Given the description of an element on the screen output the (x, y) to click on. 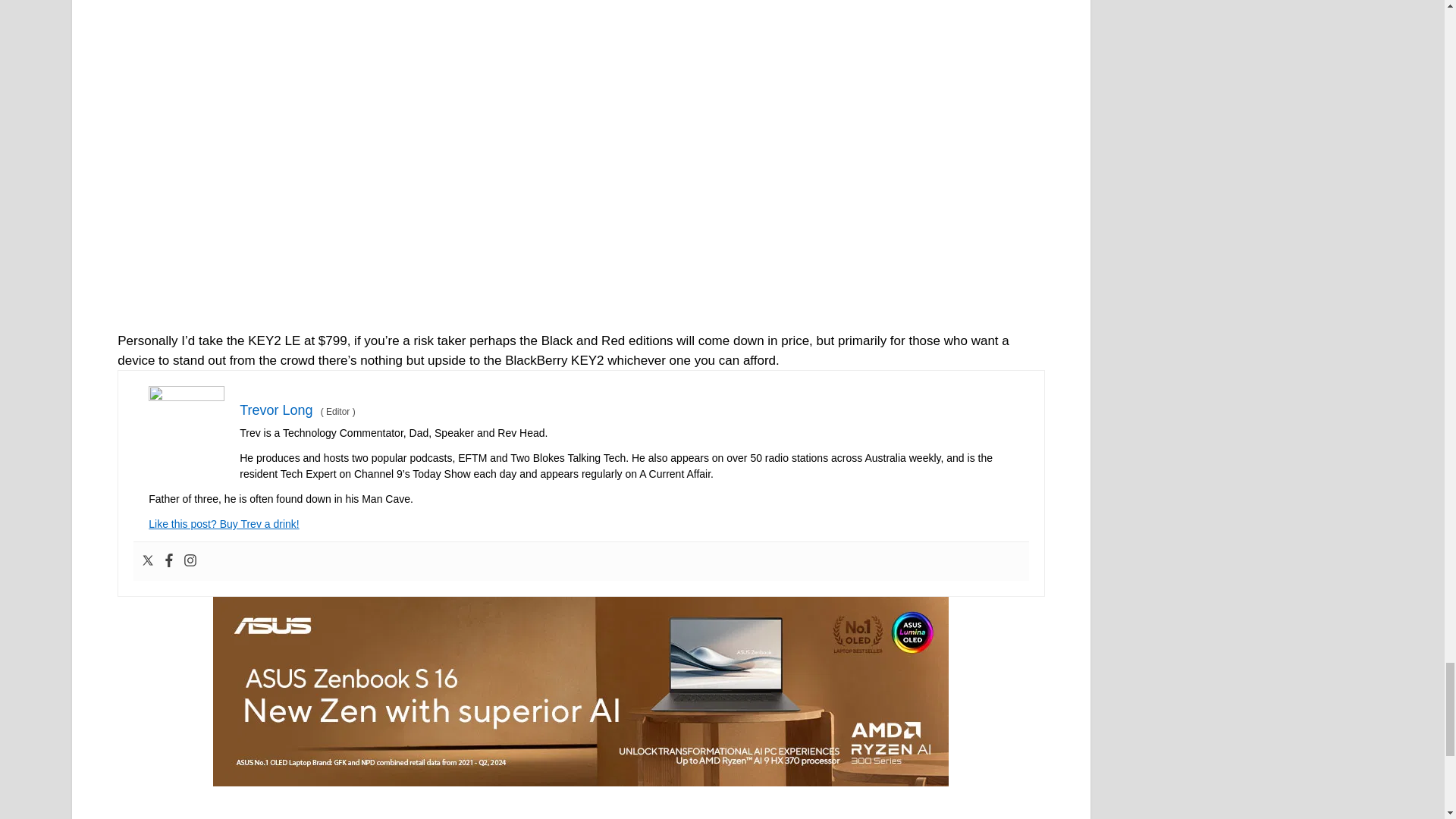
Trevor Long (276, 409)
Like this post? Buy Trev a drink! (223, 523)
